Given the description of an element on the screen output the (x, y) to click on. 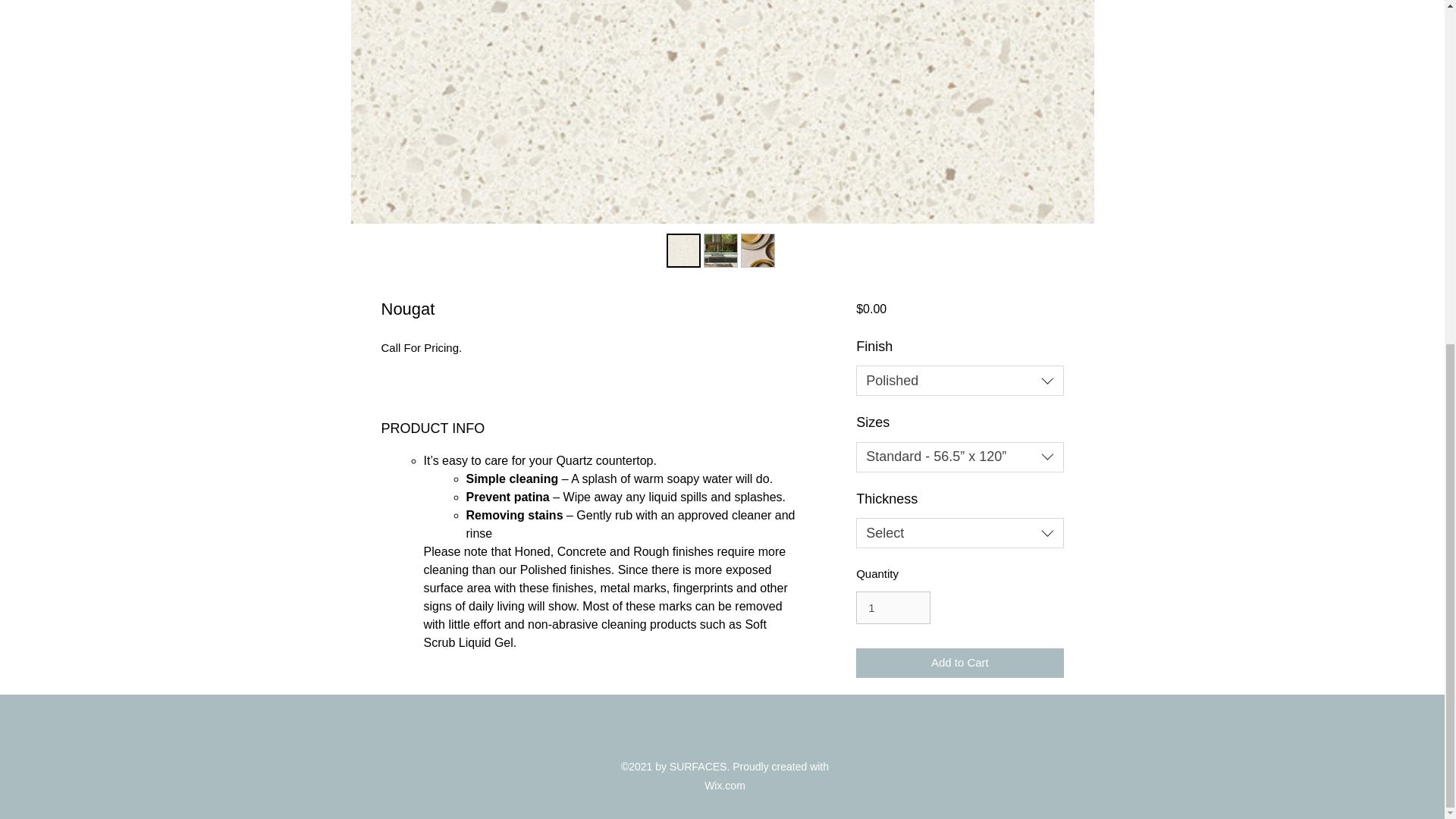
Polished (959, 380)
Add to Cart (959, 663)
Select (959, 532)
1 (893, 607)
